Given the description of an element on the screen output the (x, y) to click on. 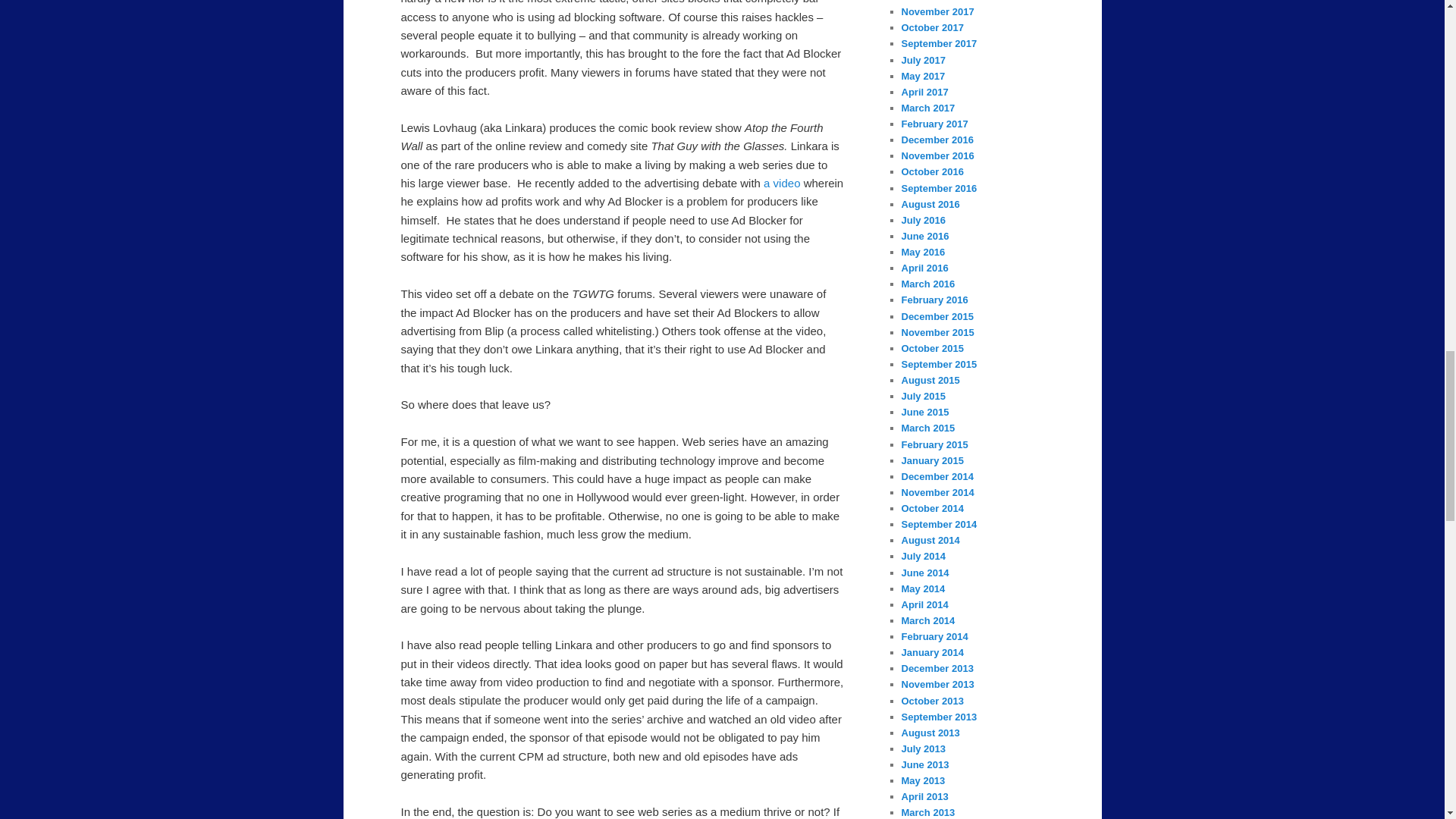
a video (782, 182)
